Given the description of an element on the screen output the (x, y) to click on. 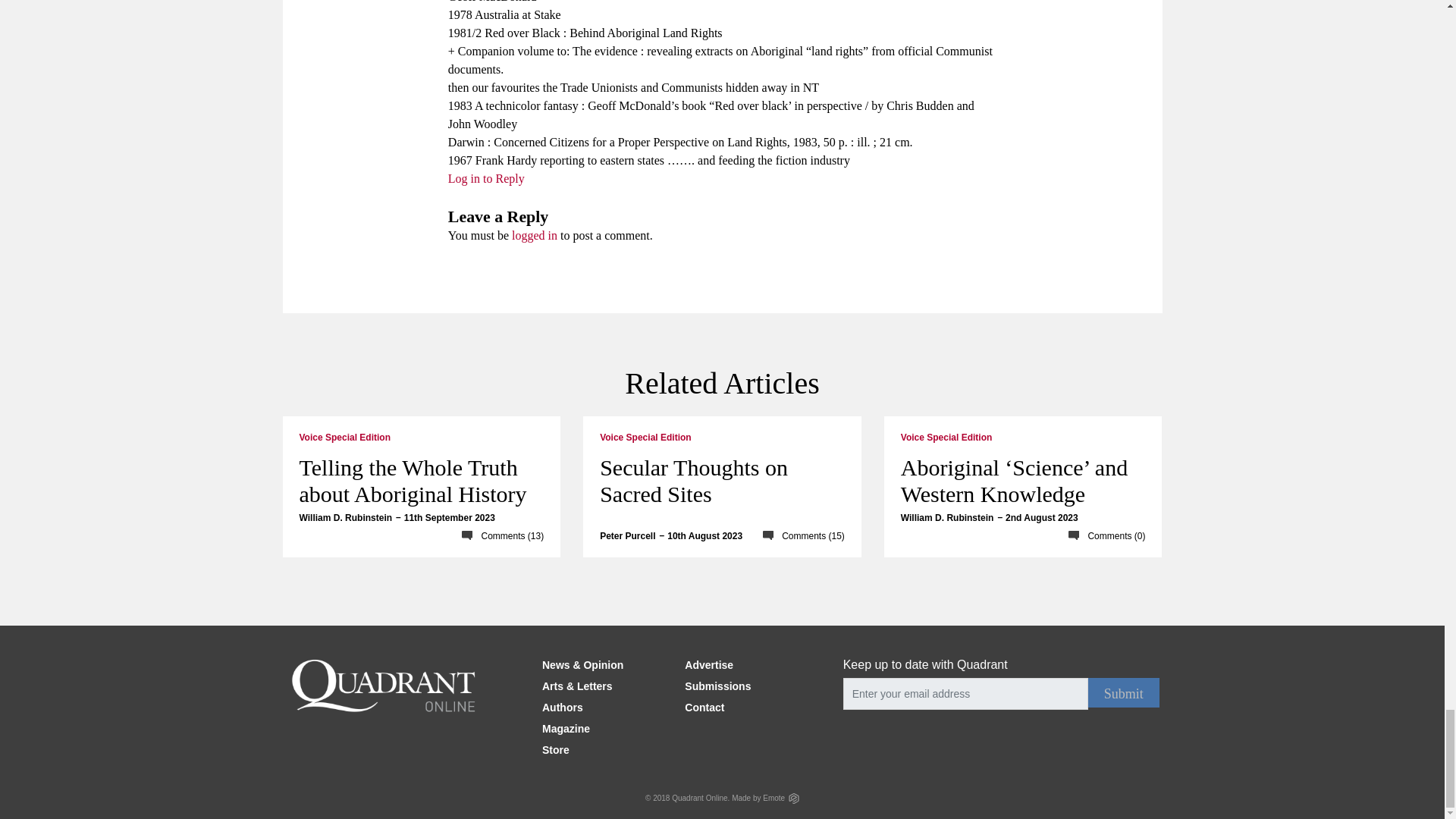
Submit (1122, 692)
